Given the description of an element on the screen output the (x, y) to click on. 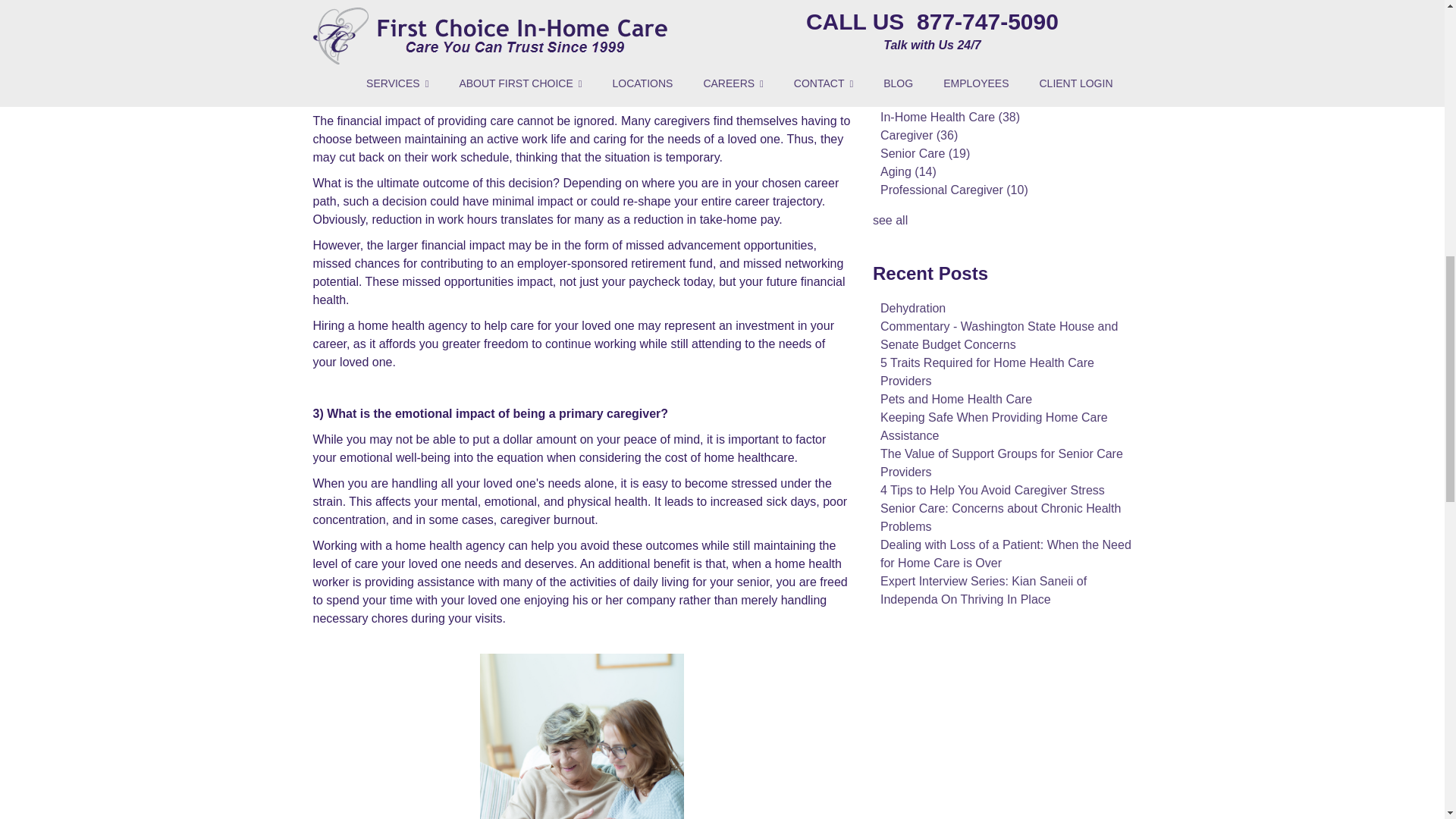
Home health care (582, 736)
Keeping Safe When Providing Home Care Assistance (1046, 2)
